Given the description of an element on the screen output the (x, y) to click on. 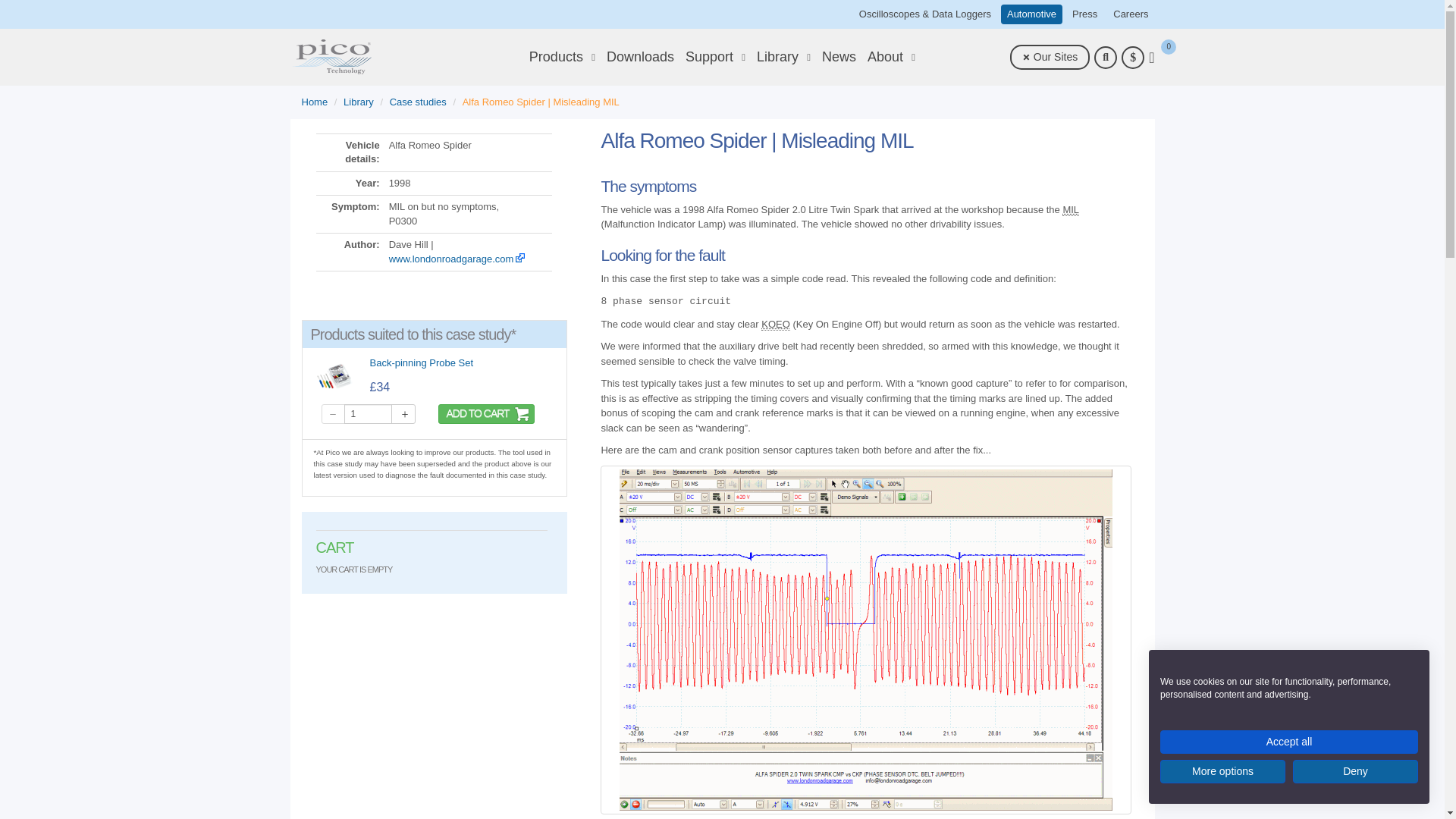
1 (368, 414)
Support (715, 56)
Press (1084, 14)
Downloads (640, 56)
Products (562, 56)
Careers (1130, 14)
Malfunction Indicator Lamp (1070, 209)
Add to Cart (486, 414)
Key On Engine Off (775, 324)
Automotive (1031, 14)
